Given the description of an element on the screen output the (x, y) to click on. 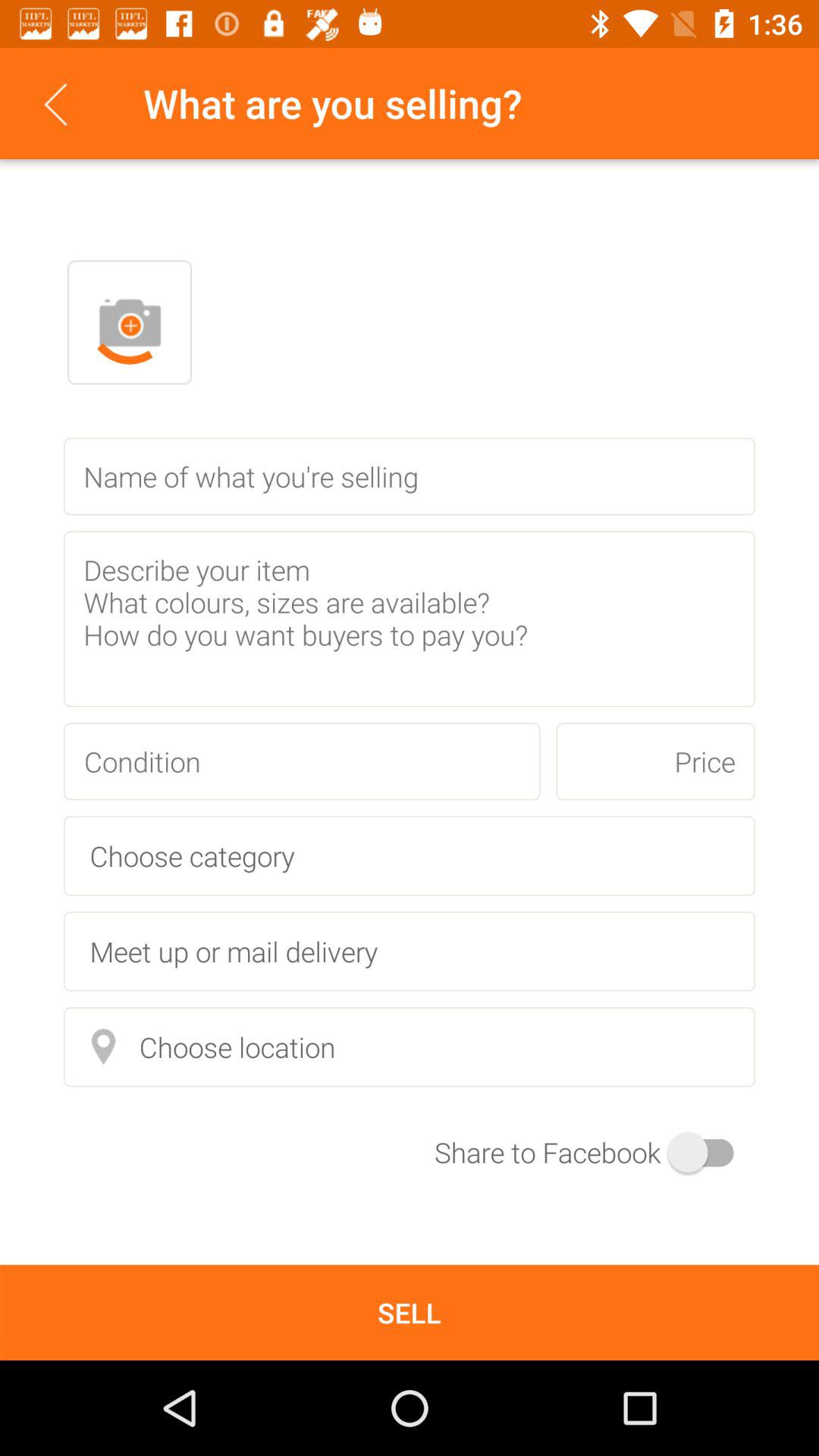
click the item below the meet up or (409, 1046)
